Given the description of an element on the screen output the (x, y) to click on. 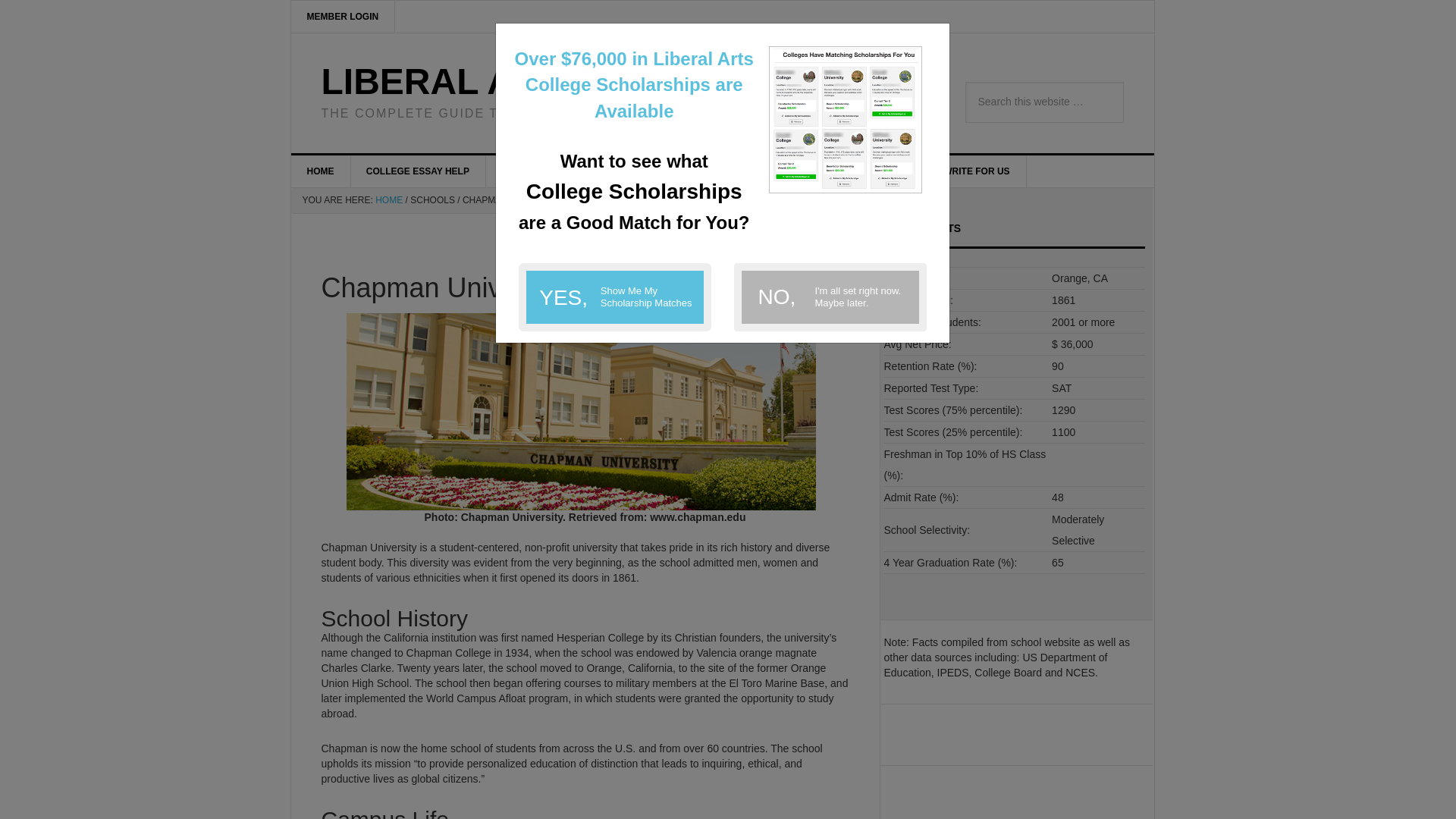
COLLEGE RANKINGS (864, 171)
MEMBER LOGIN (829, 296)
Search (343, 16)
WRITE FOR US (320, 171)
LIBERAL ARTS COLLEGES (614, 296)
COLLEGE ESSAY HELP (976, 171)
COLLEGE ACCEPTANCE RATES (558, 81)
Search (418, 171)
Chapman University (571, 171)
SCHOOL COMPARISONS (580, 411)
